Given the description of an element on the screen output the (x, y) to click on. 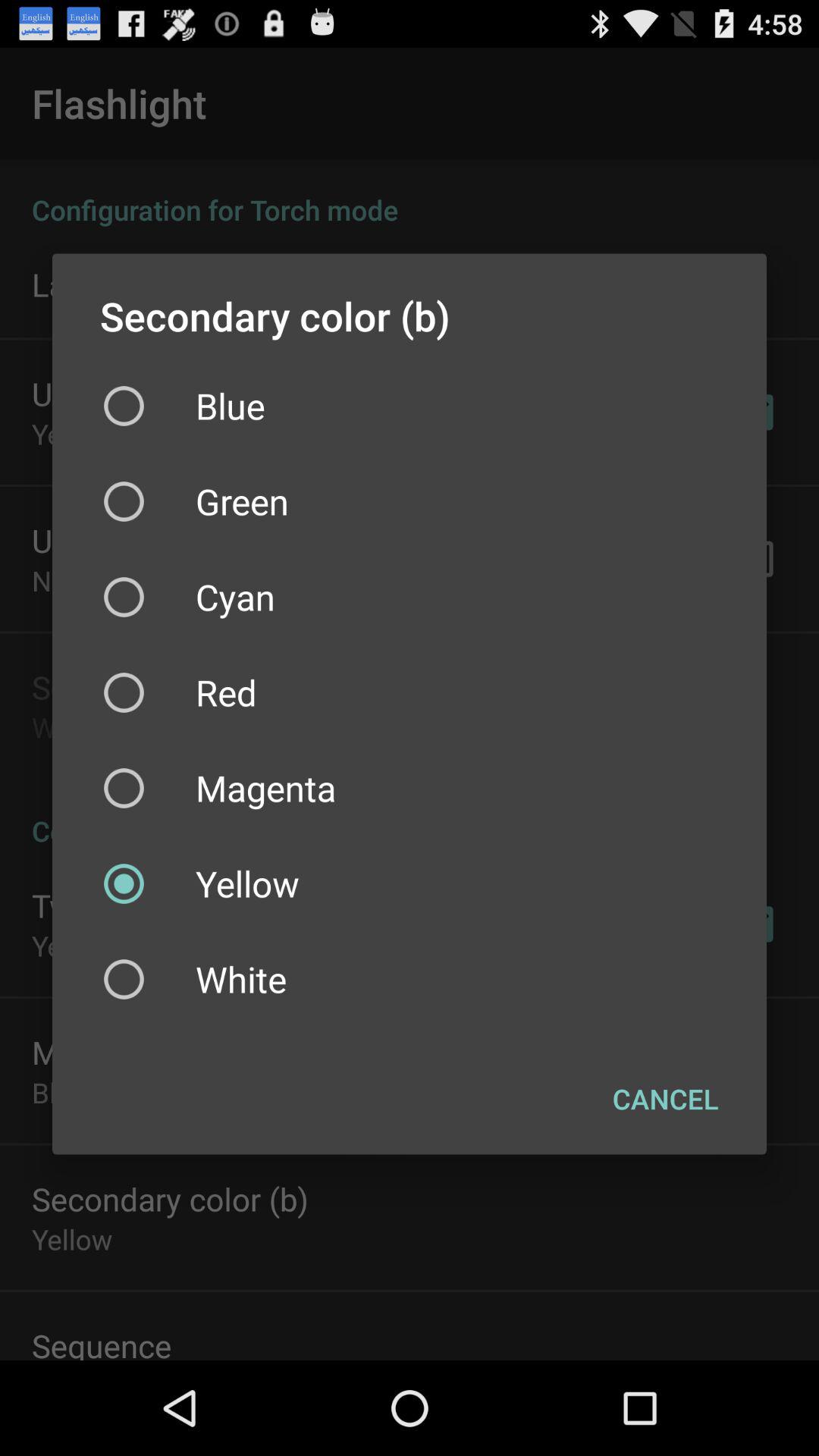
turn on cancel icon (665, 1098)
